Given the description of an element on the screen output the (x, y) to click on. 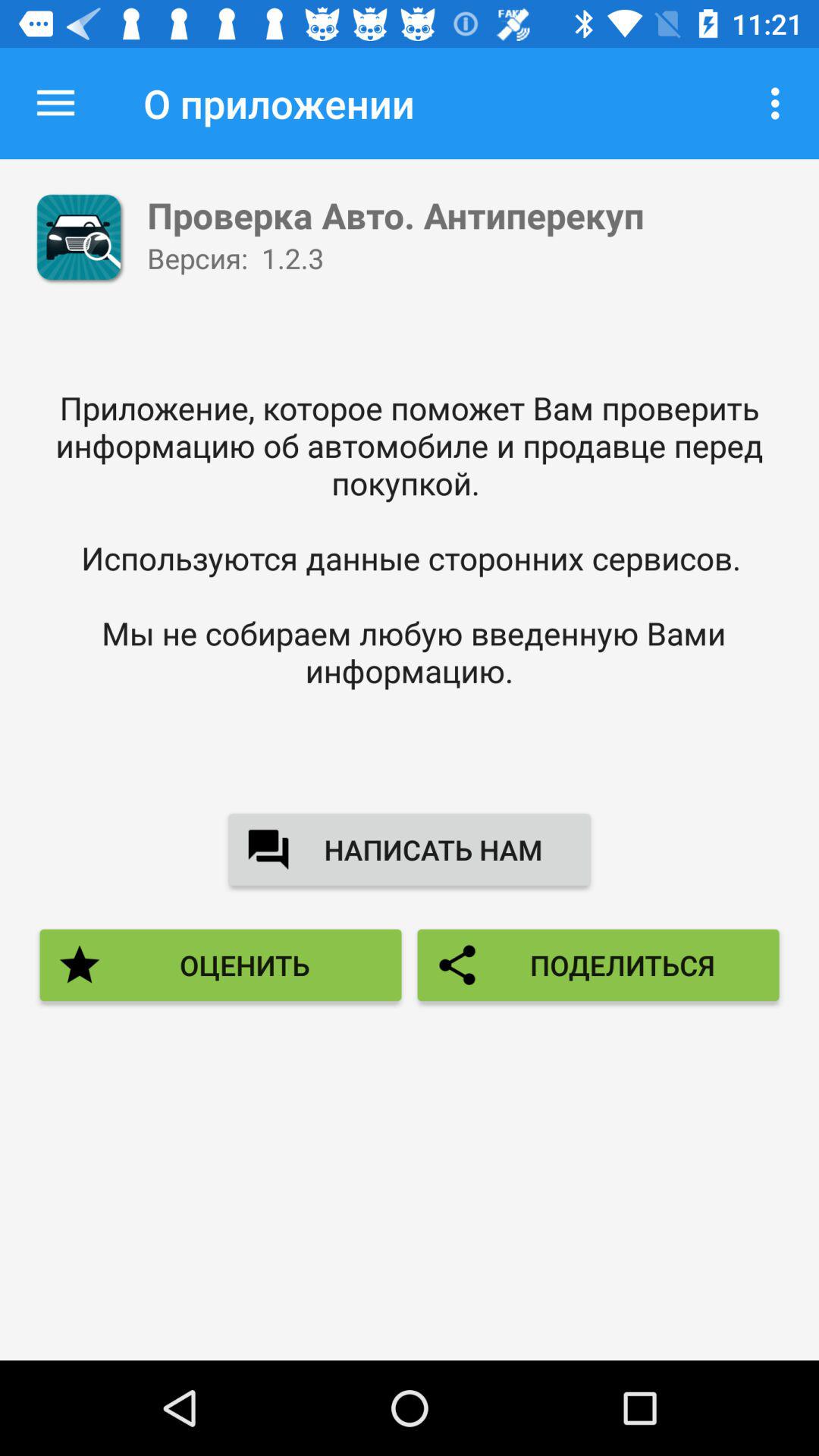
press icon on the right (598, 964)
